Given the description of an element on the screen output the (x, y) to click on. 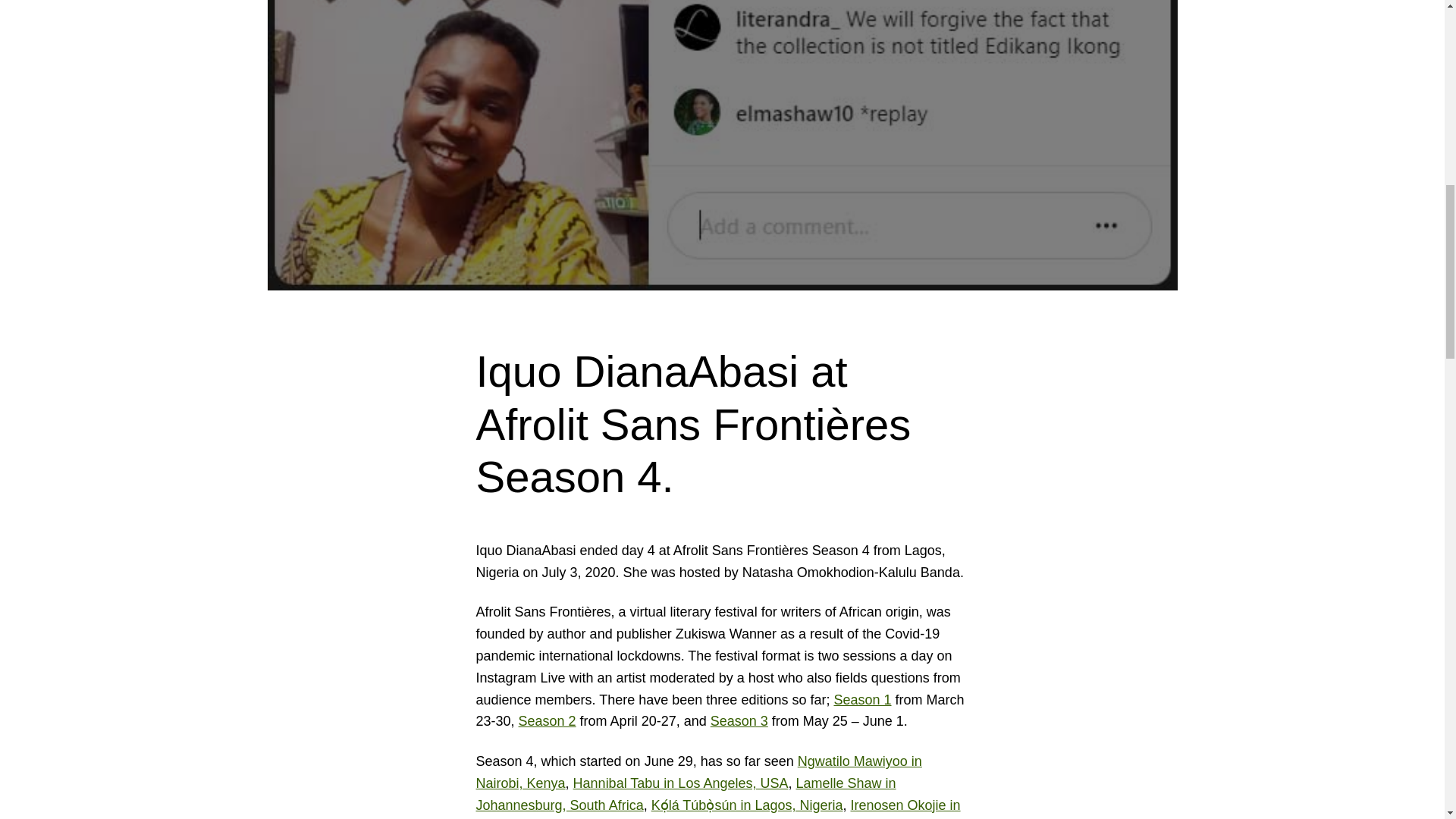
Hannibal Tabu in Los Angeles, USA (681, 783)
Ngwatilo Mawiyoo in Nairobi, Kenya (698, 772)
Irenosen Okojie in London, UK (718, 808)
Season 2 (547, 720)
Lamelle Shaw in Johannesburg, South Africa (686, 794)
Season 3 (739, 720)
Season 1 (861, 699)
